Given the description of an element on the screen output the (x, y) to click on. 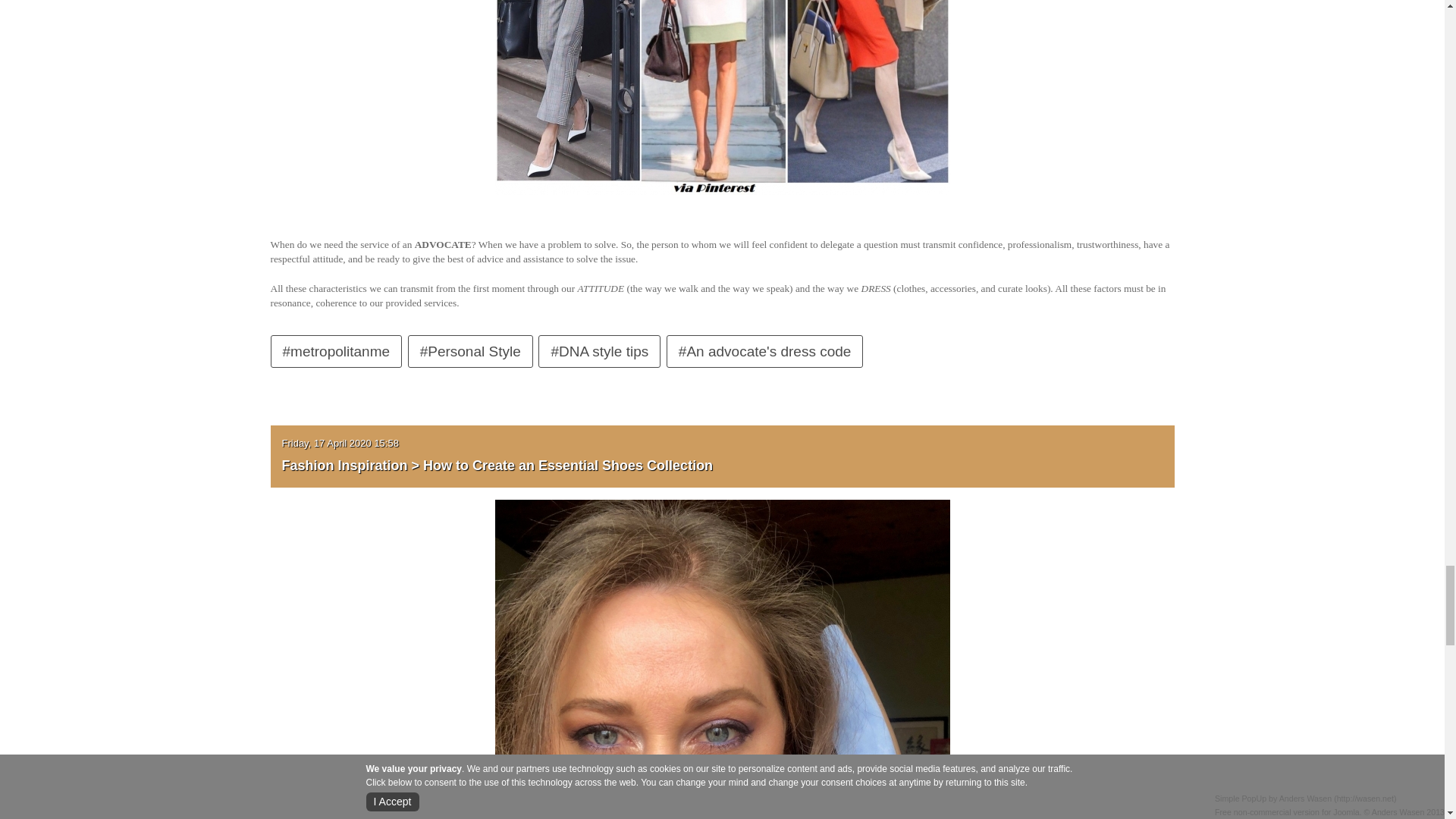
How to Create an Essential Shoes Collection (722, 800)
